Given the description of an element on the screen output the (x, y) to click on. 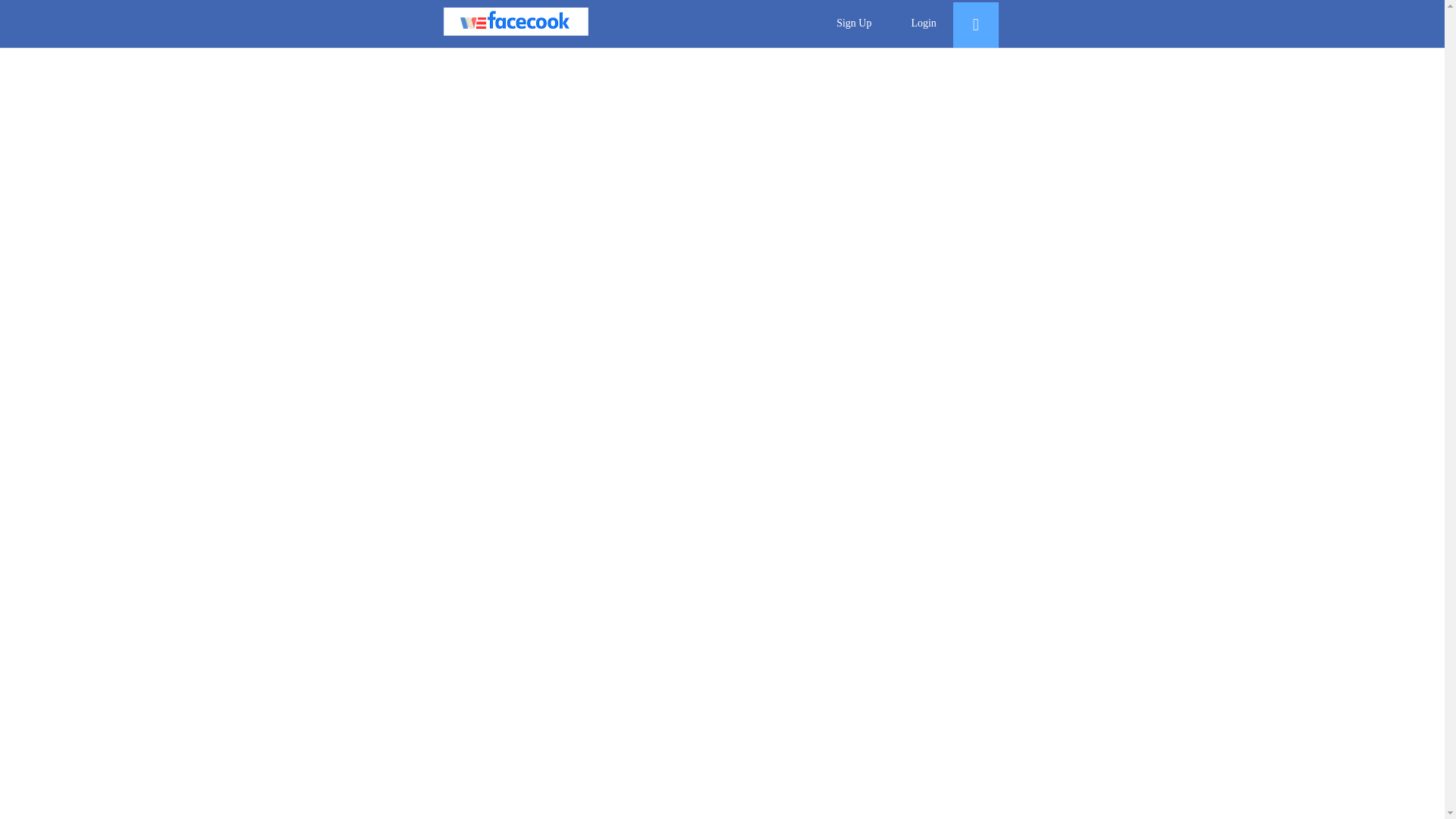
Reset (975, 27)
Sign Up (853, 23)
Login (923, 23)
